Given the description of an element on the screen output the (x, y) to click on. 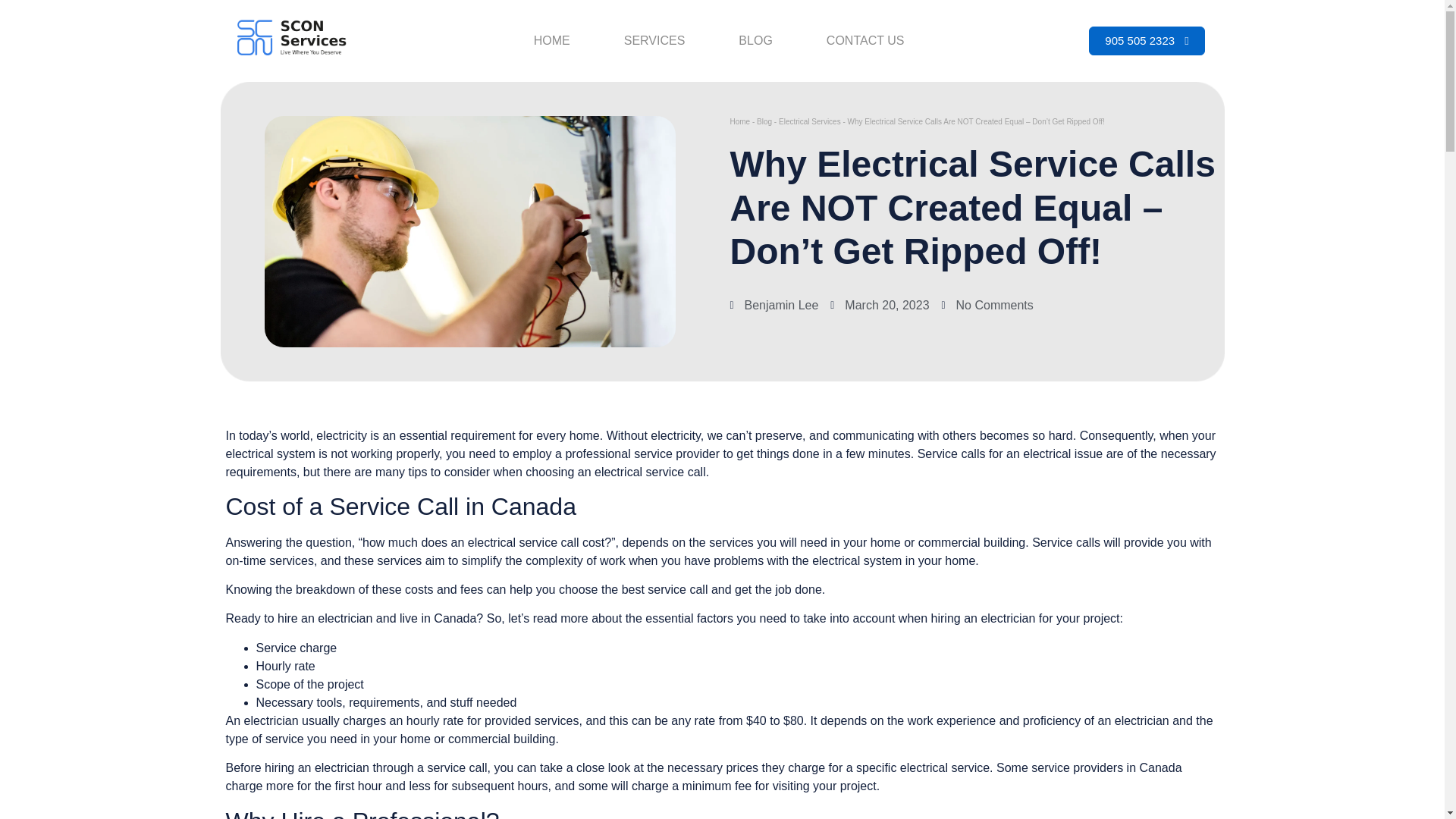
Blog (764, 121)
CONTACT US (865, 40)
Electrical Services (809, 121)
Home (739, 121)
HOME (551, 40)
905 505 2323 (1146, 40)
BLOG (755, 40)
SERVICES (654, 40)
